Given the description of an element on the screen output the (x, y) to click on. 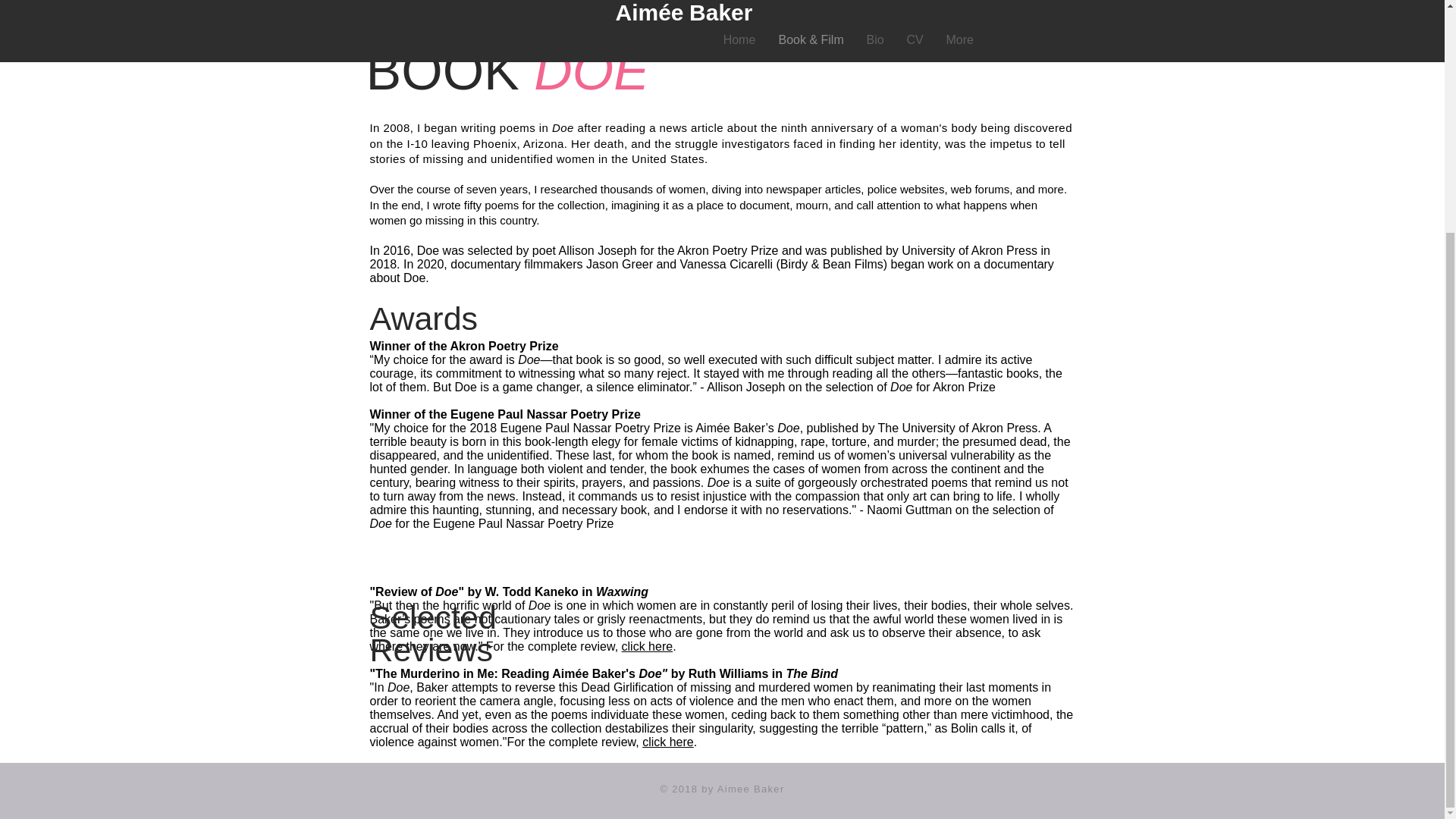
click here (646, 645)
click here (668, 741)
